Given the description of an element on the screen output the (x, y) to click on. 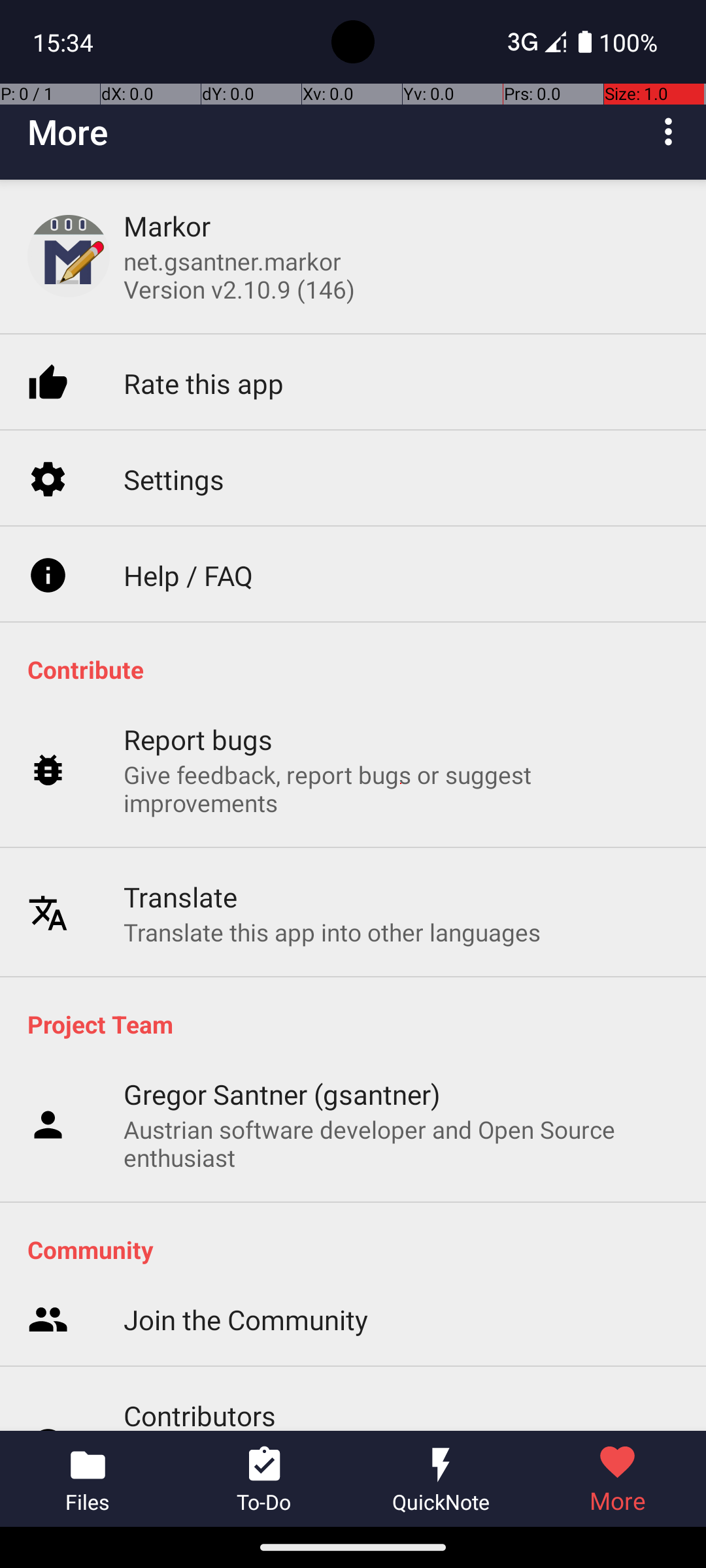
Contribute Element type: android.widget.TextView (359, 669)
Project Team Element type: android.widget.TextView (359, 1023)
Community Element type: android.widget.TextView (359, 1249)
net.gsantner.markor
Version v2.10.9 (146) Element type: android.widget.TextView (239, 274)
Rate this app Element type: android.widget.TextView (203, 382)
Help / FAQ Element type: android.widget.TextView (188, 574)
Report bugs Element type: android.widget.TextView (198, 738)
Give feedback, report bugs or suggest improvements Element type: android.widget.TextView (400, 788)
Translate Element type: android.widget.TextView (180, 896)
Translate this app into other languages Element type: android.widget.TextView (331, 931)
Gregor Santner (gsantner) Element type: android.widget.TextView (281, 1093)
Austrian software developer and Open Source enthusiast Element type: android.widget.TextView (400, 1143)
Join the Community Element type: android.widget.TextView (245, 1319)
Contributors Element type: android.widget.TextView (199, 1413)
